Given the description of an element on the screen output the (x, y) to click on. 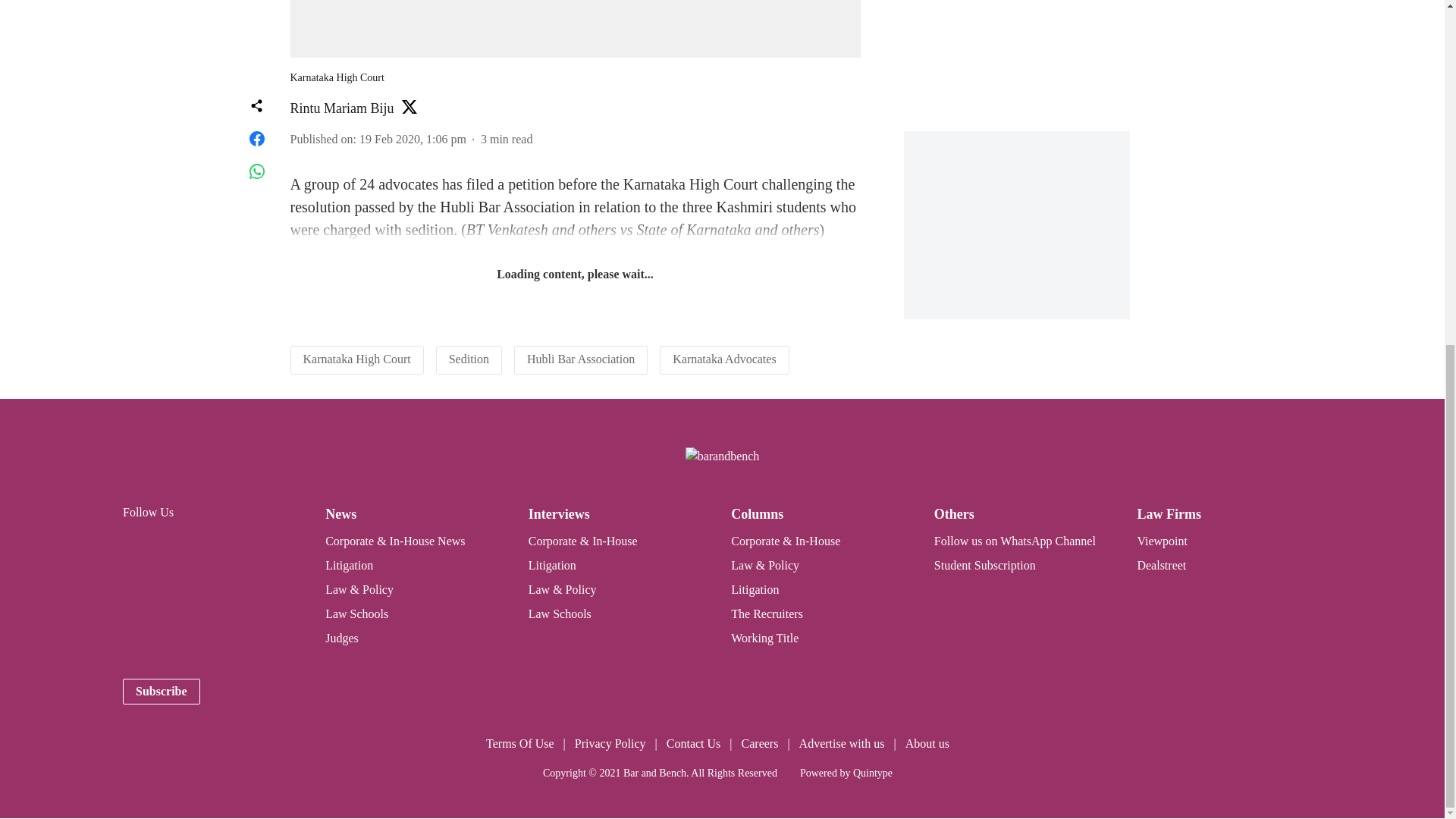
News (340, 513)
Karnataka High Court (356, 358)
2020-02-19 05:06 (412, 138)
Rintu Mariam Biju (341, 108)
Sedition (468, 358)
Karnataka Advocates (724, 358)
Hubli Bar Association (580, 358)
